Given the description of an element on the screen output the (x, y) to click on. 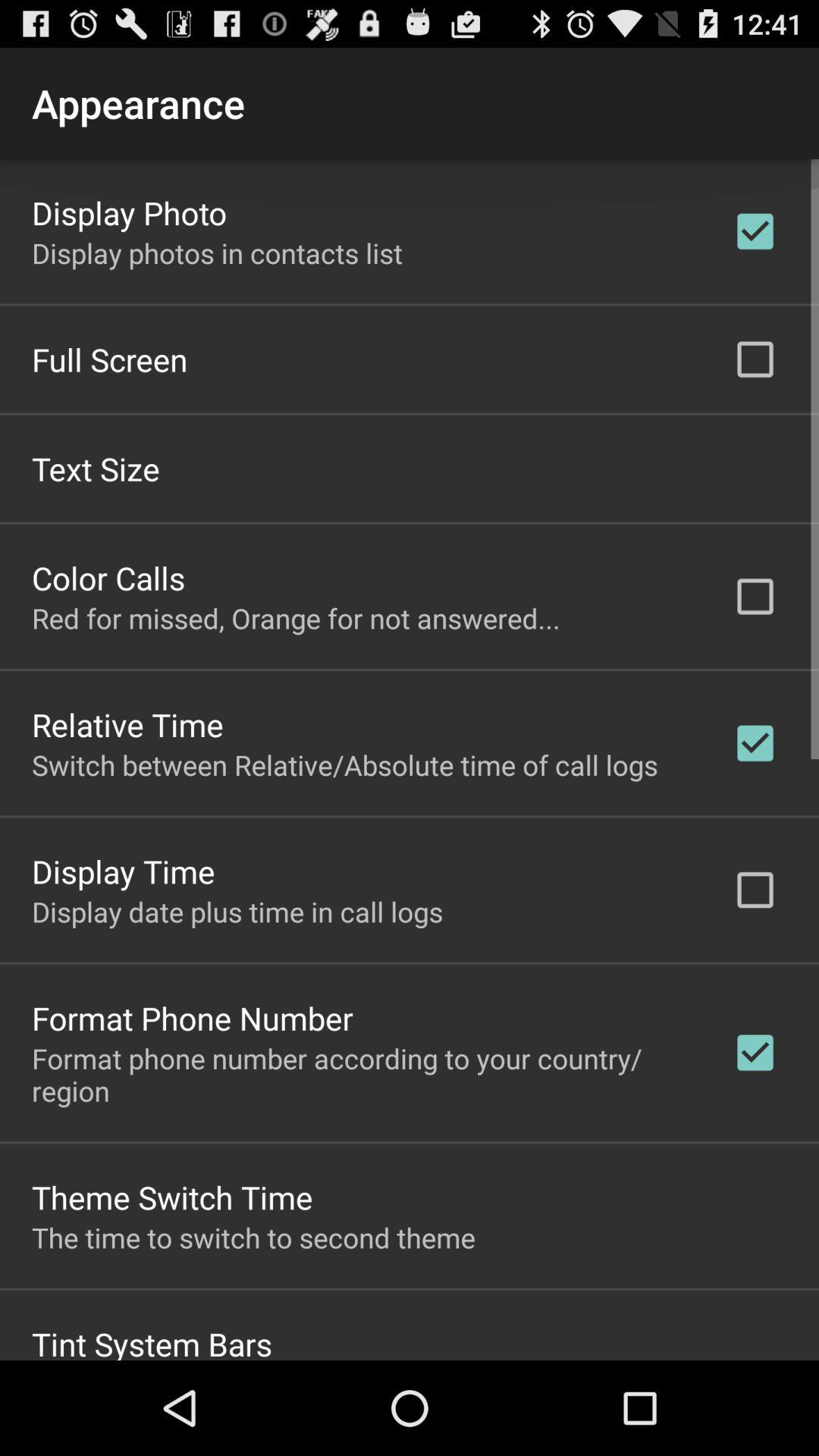
click the icon above the red for missed app (108, 576)
